Given the description of an element on the screen output the (x, y) to click on. 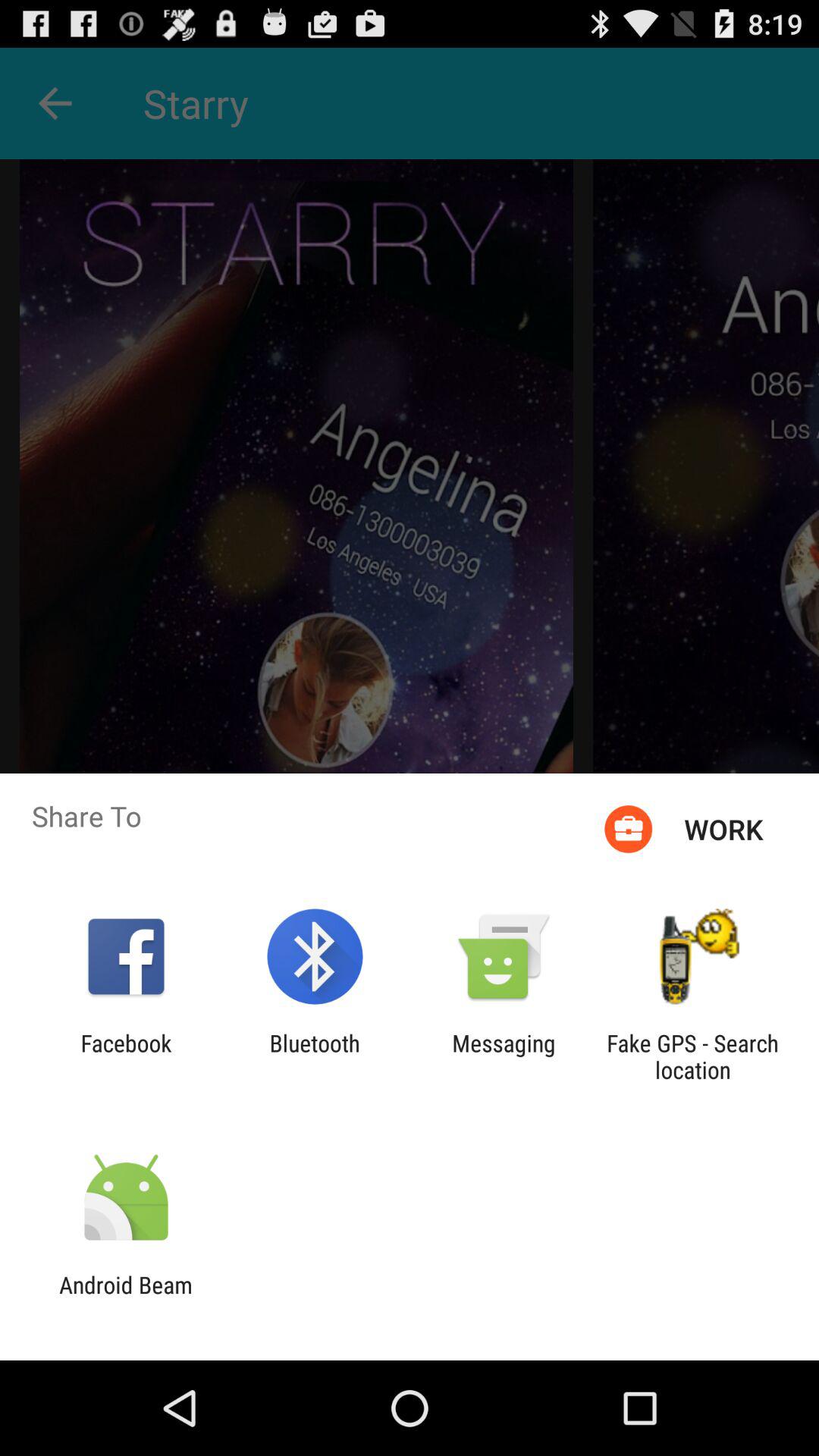
press the app to the right of facebook icon (314, 1056)
